Given the description of an element on the screen output the (x, y) to click on. 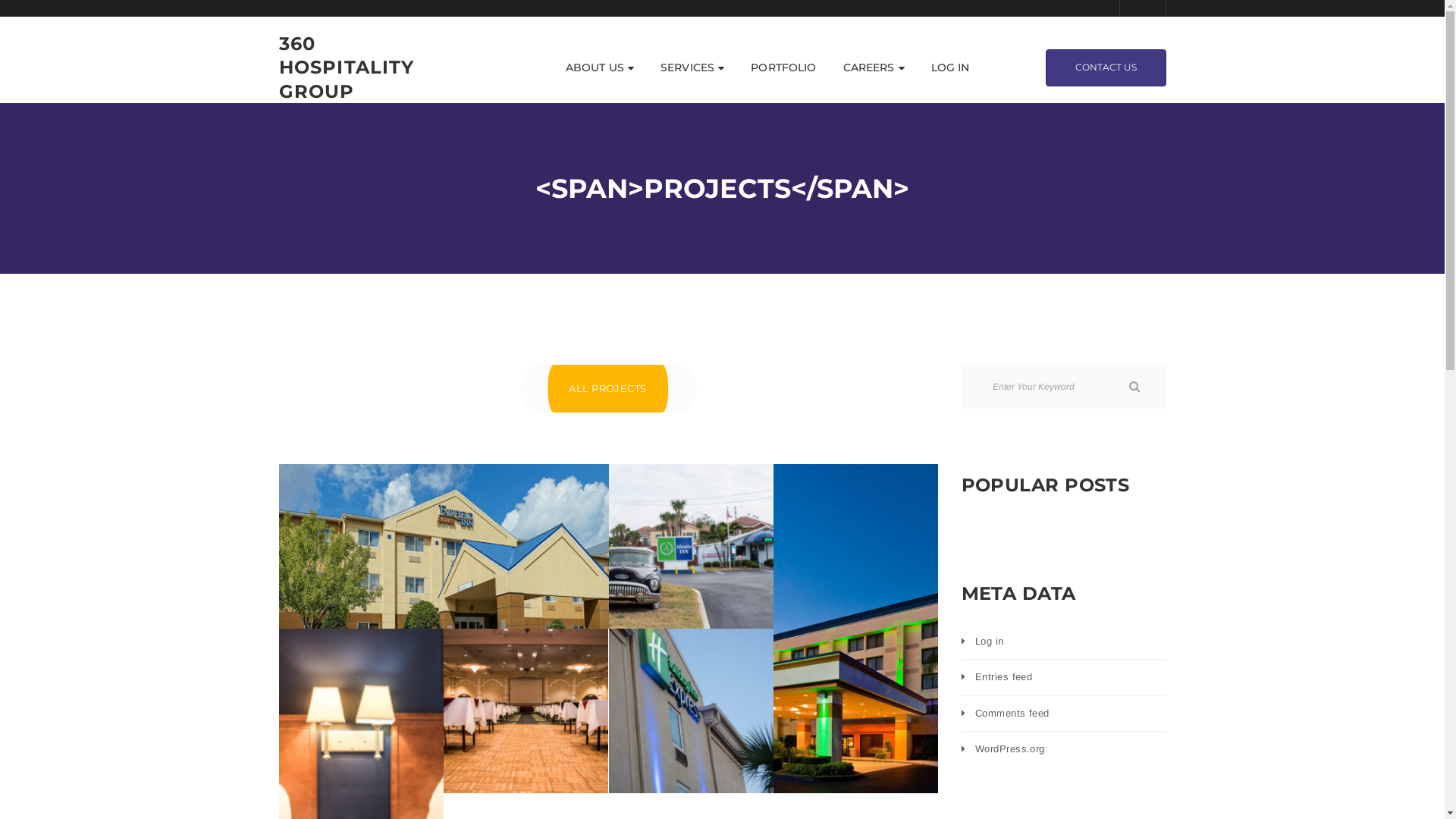
CAREERS Element type: text (873, 67)
CONTACT US Element type: text (1104, 66)
Log in Element type: text (989, 640)
LOG IN Element type: text (950, 67)
ALL PROJECTS Element type: text (607, 387)
Atlantic Inn Element type: hover (690, 546)
Holiday Inn Express & Suites Cocoa Element type: hover (690, 709)
ABOUT US Element type: text (599, 67)
WordPress.org Element type: text (1009, 748)
360 HOSPITALITY GROUP Element type: text (354, 67)
SERVICES Element type: text (692, 67)
Holiday Inn Port St. Lucie Element type: hover (855, 628)
PORTFOLIO Element type: text (782, 67)
Fairfield Inn by Marriott  Tallahassee North/I-10 Element type: hover (443, 546)
Comments feed Element type: text (1012, 712)
Entries feed Element type: text (1003, 676)
Space Coast Convention Center Element type: hover (525, 709)
